Given the description of an element on the screen output the (x, y) to click on. 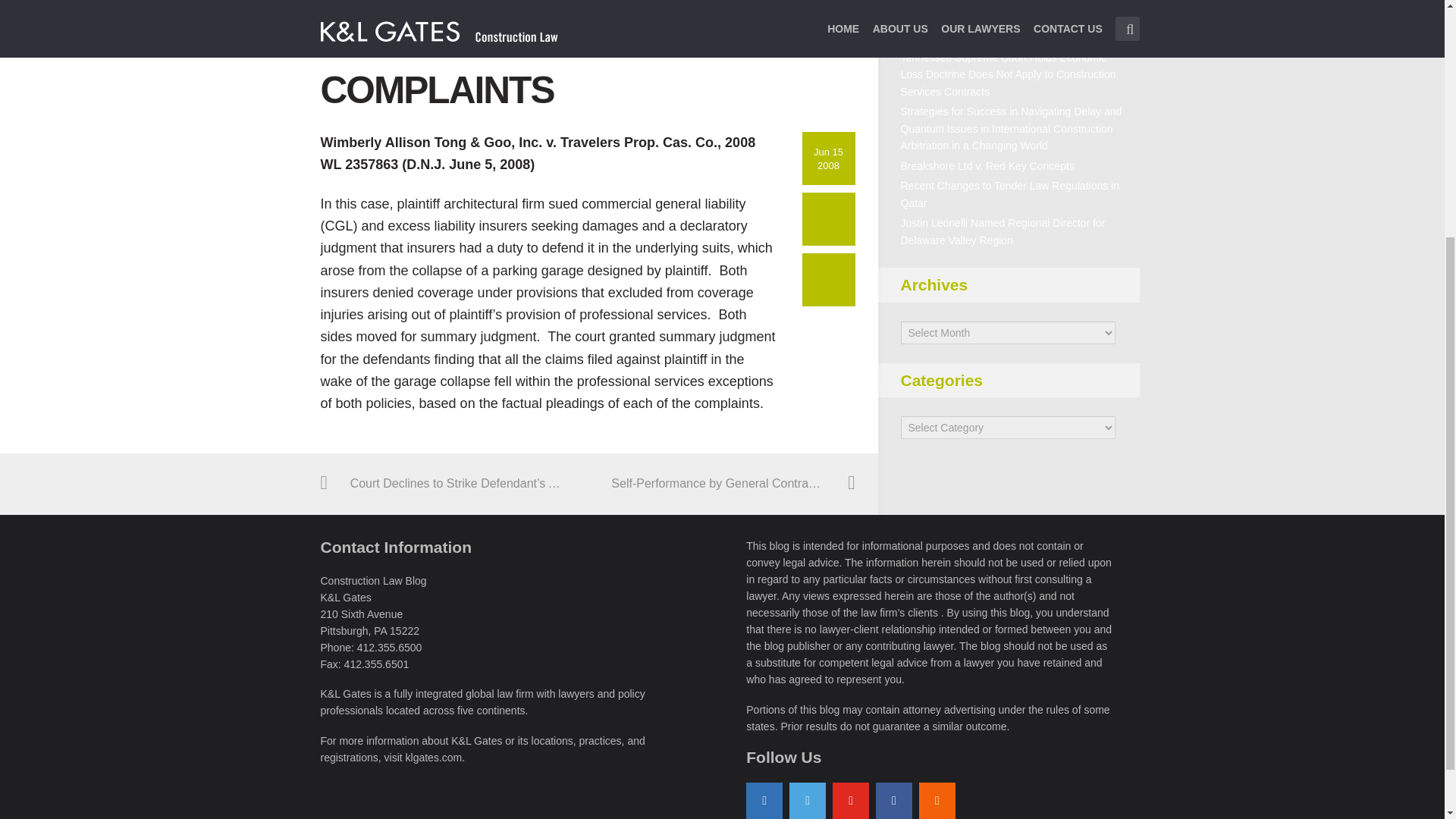
klgates.com (434, 757)
Breakshore Ltd v. Red Key Concepts (987, 165)
Recent Changes to Tender Law Regulations in Qatar (1010, 193)
